Given the description of an element on the screen output the (x, y) to click on. 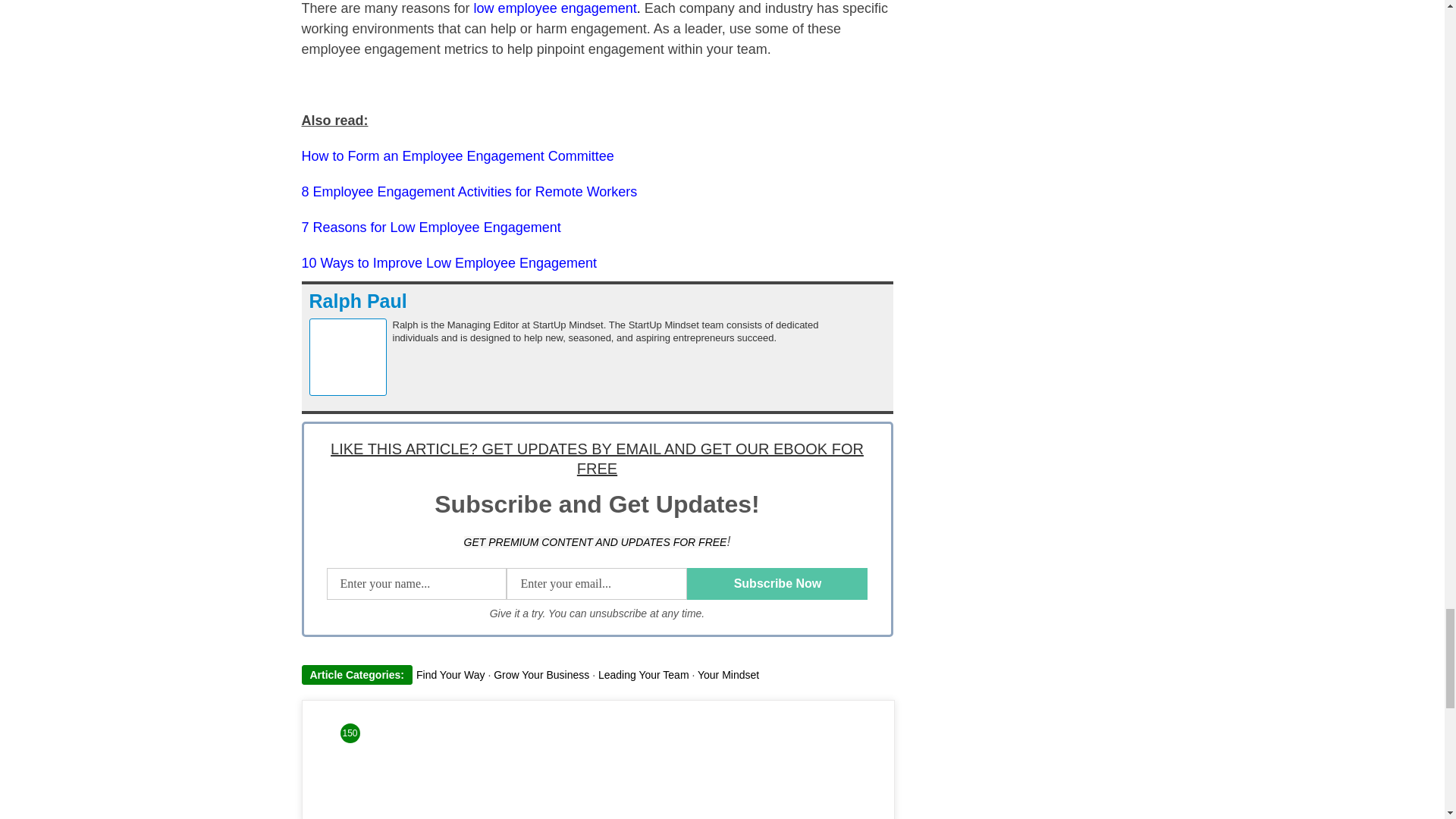
7 Reasons for Low Employee Engagement (430, 227)
8 Employee Engagement Activities for Remote Workers (469, 191)
Subscribe Now (777, 583)
Ralph Paul (357, 301)
10 Ways to Improve Low Employee Engagement (448, 263)
How to Form an Employee Engagement Committee (457, 155)
low employee engagement. (557, 7)
Ralph Paul (357, 301)
